Given the description of an element on the screen output the (x, y) to click on. 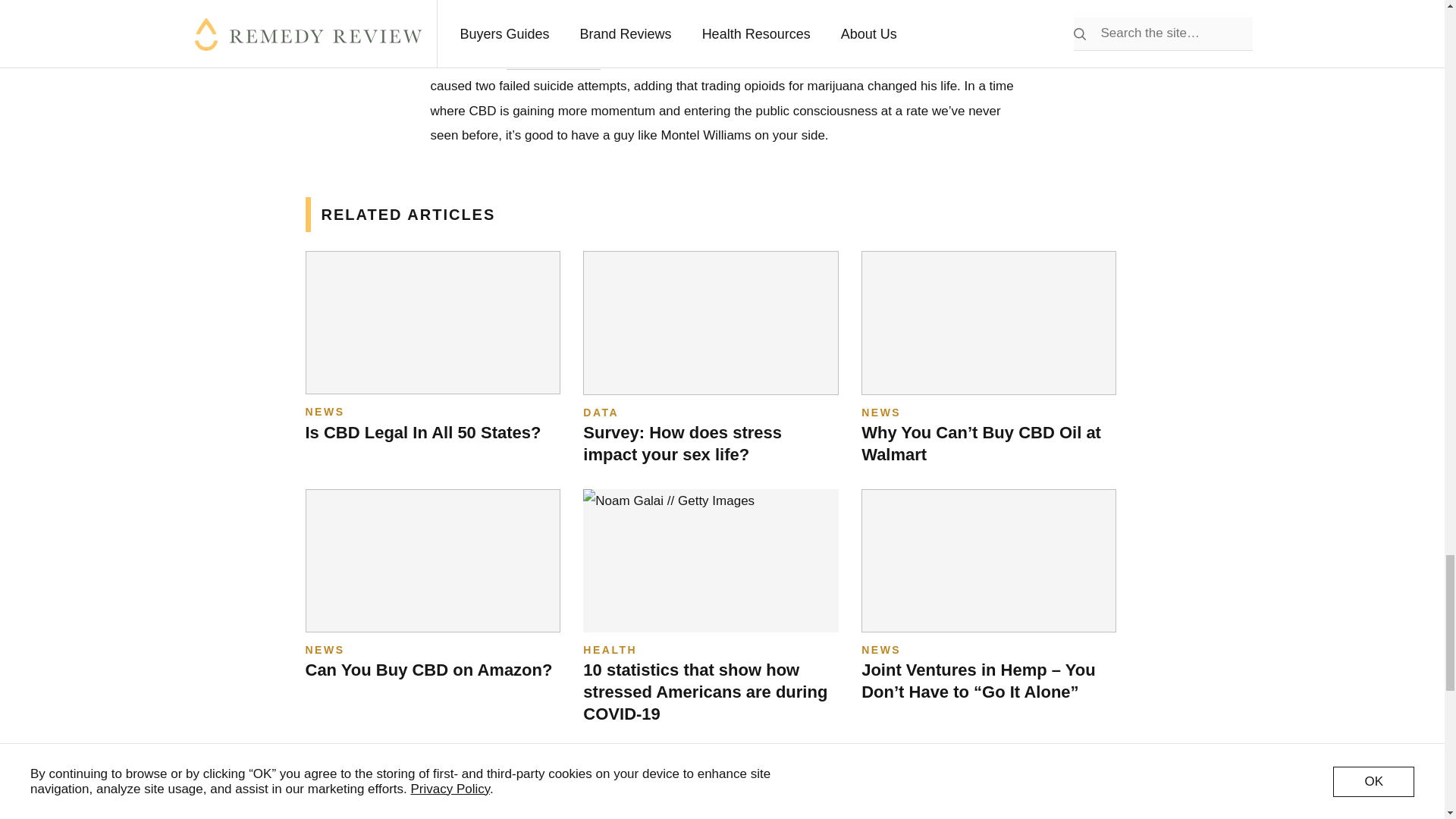
spoken at length (553, 61)
